Given the description of an element on the screen output the (x, y) to click on. 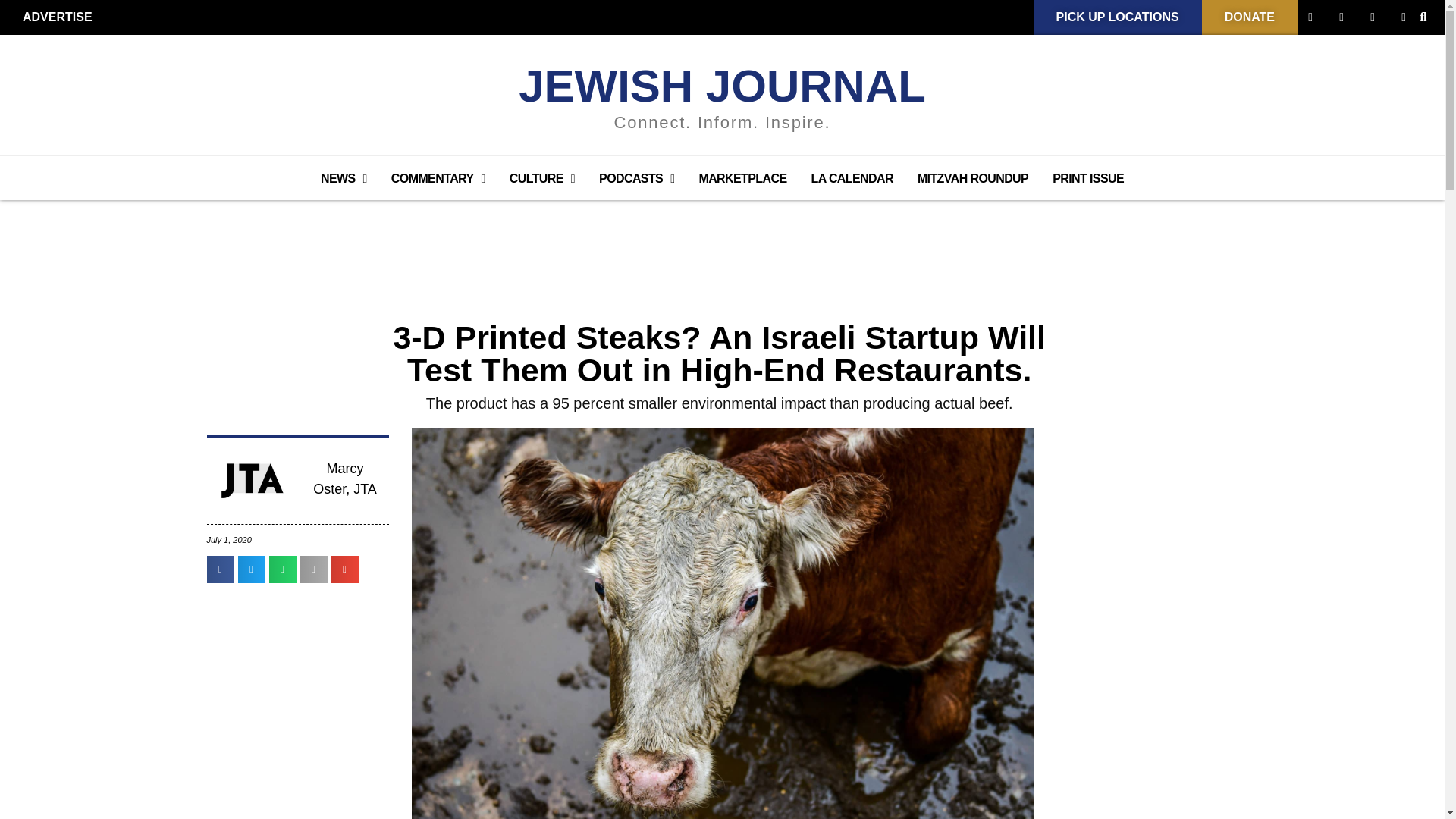
PODCASTS (635, 178)
DONATE (1249, 17)
JEWISH JOURNAL (722, 85)
PICK UP LOCATIONS (1117, 17)
ADVERTISE (57, 17)
COMMENTARY (437, 178)
3rd party ad content (1161, 533)
3rd party ad content (721, 242)
NEWS (343, 178)
CULTURE (541, 178)
LA CALENDAR (852, 178)
MARKETPLACE (741, 178)
